Given the description of an element on the screen output the (x, y) to click on. 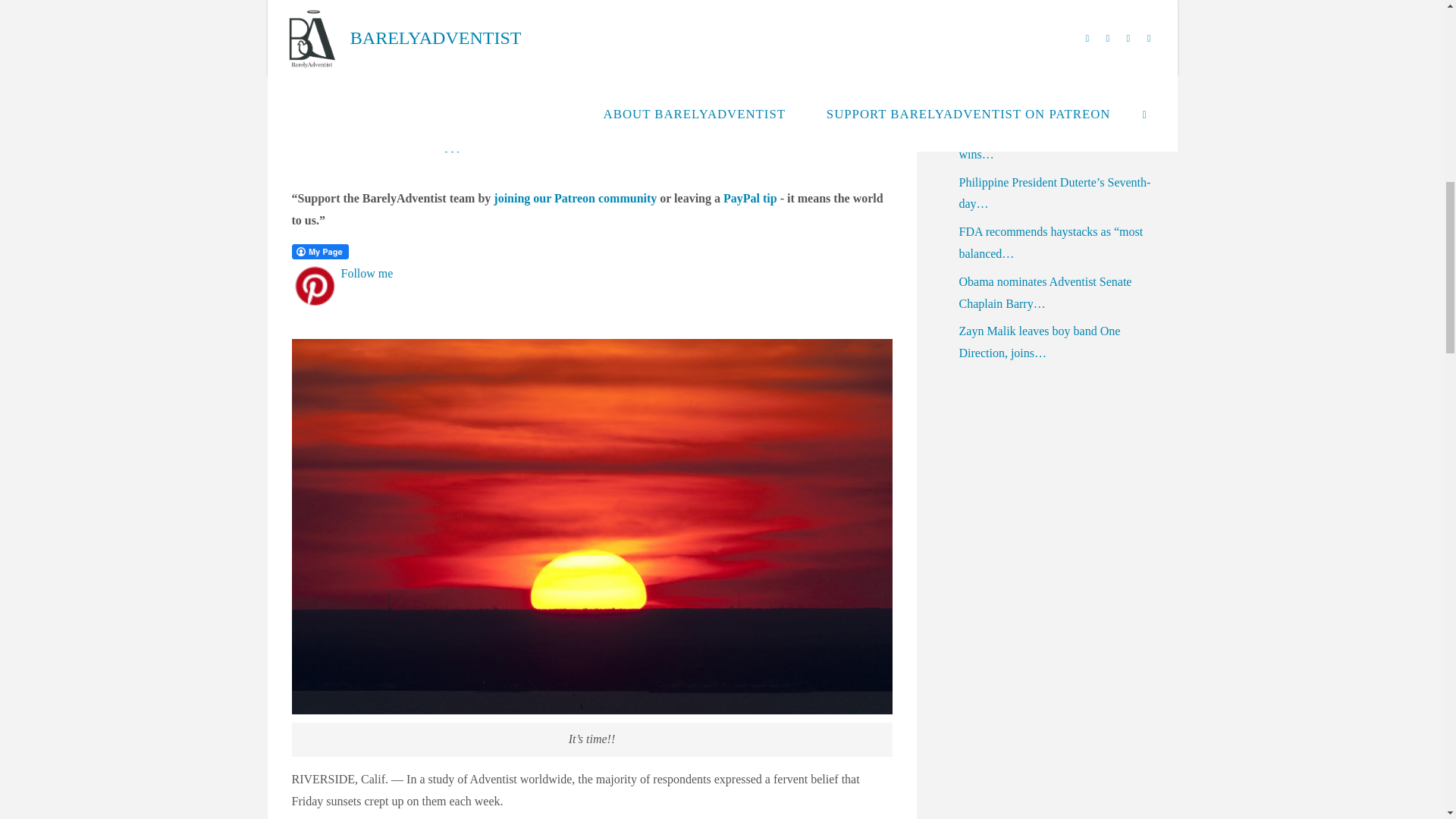
Follow me (366, 273)
joining our Patreon community (574, 197)
Date (298, 144)
Happy Sabbath! (468, 144)
View all posts by sevvy (323, 107)
sevvy (323, 107)
Tagged (417, 144)
PayPal tip (750, 197)
